Given the description of an element on the screen output the (x, y) to click on. 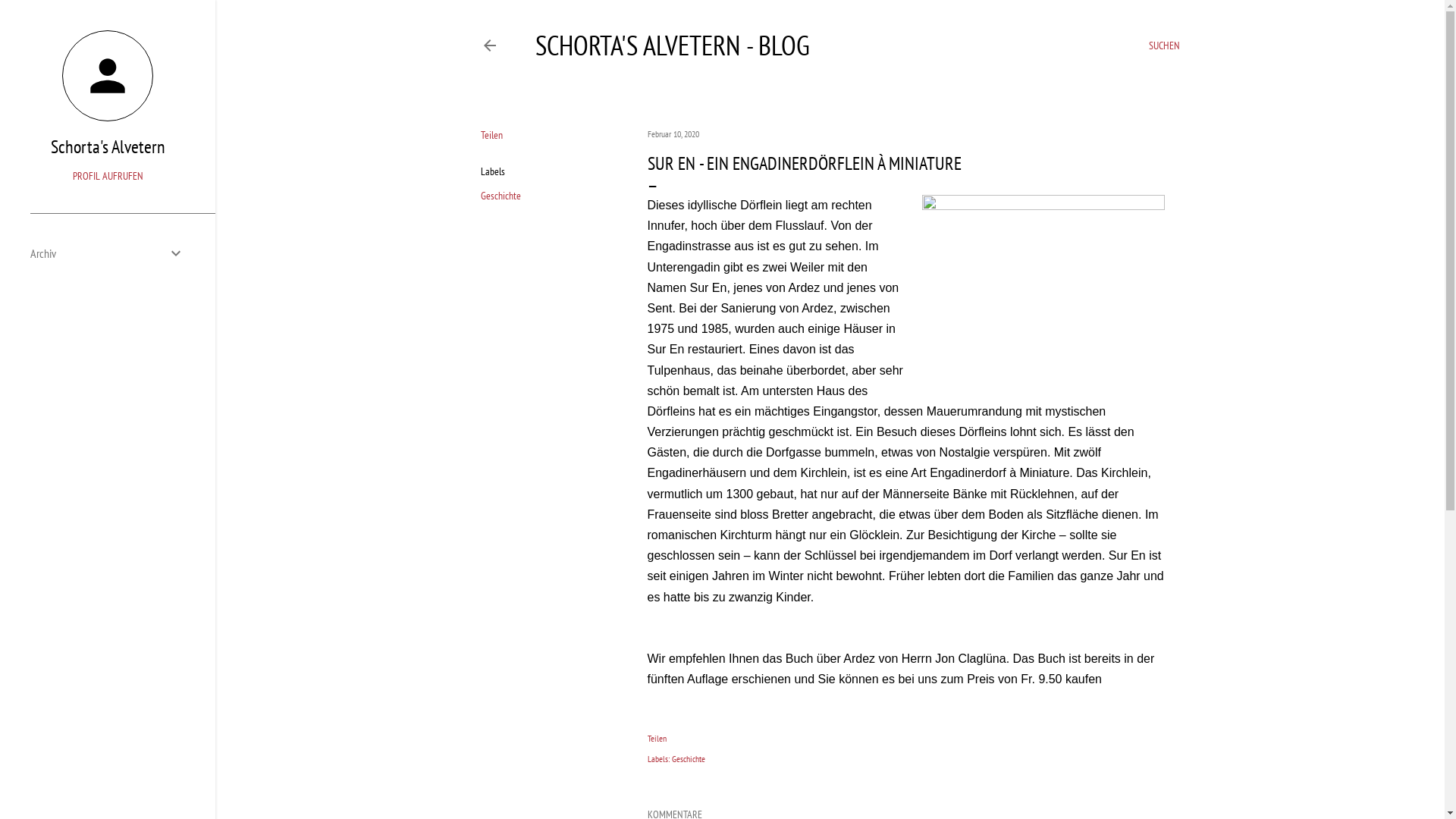
PROFIL AUFRUFEN Element type: text (107, 175)
Februar 10, 2020 Element type: text (673, 133)
Teilen Element type: text (491, 134)
Geschichte Element type: text (688, 758)
Geschichte Element type: text (500, 195)
Schorta's Alvetern Element type: text (107, 146)
Teilen Element type: text (656, 737)
SUCHEN Element type: text (1163, 45)
SCHORTA'S ALVETERN - BLOG Element type: text (672, 44)
